Given the description of an element on the screen output the (x, y) to click on. 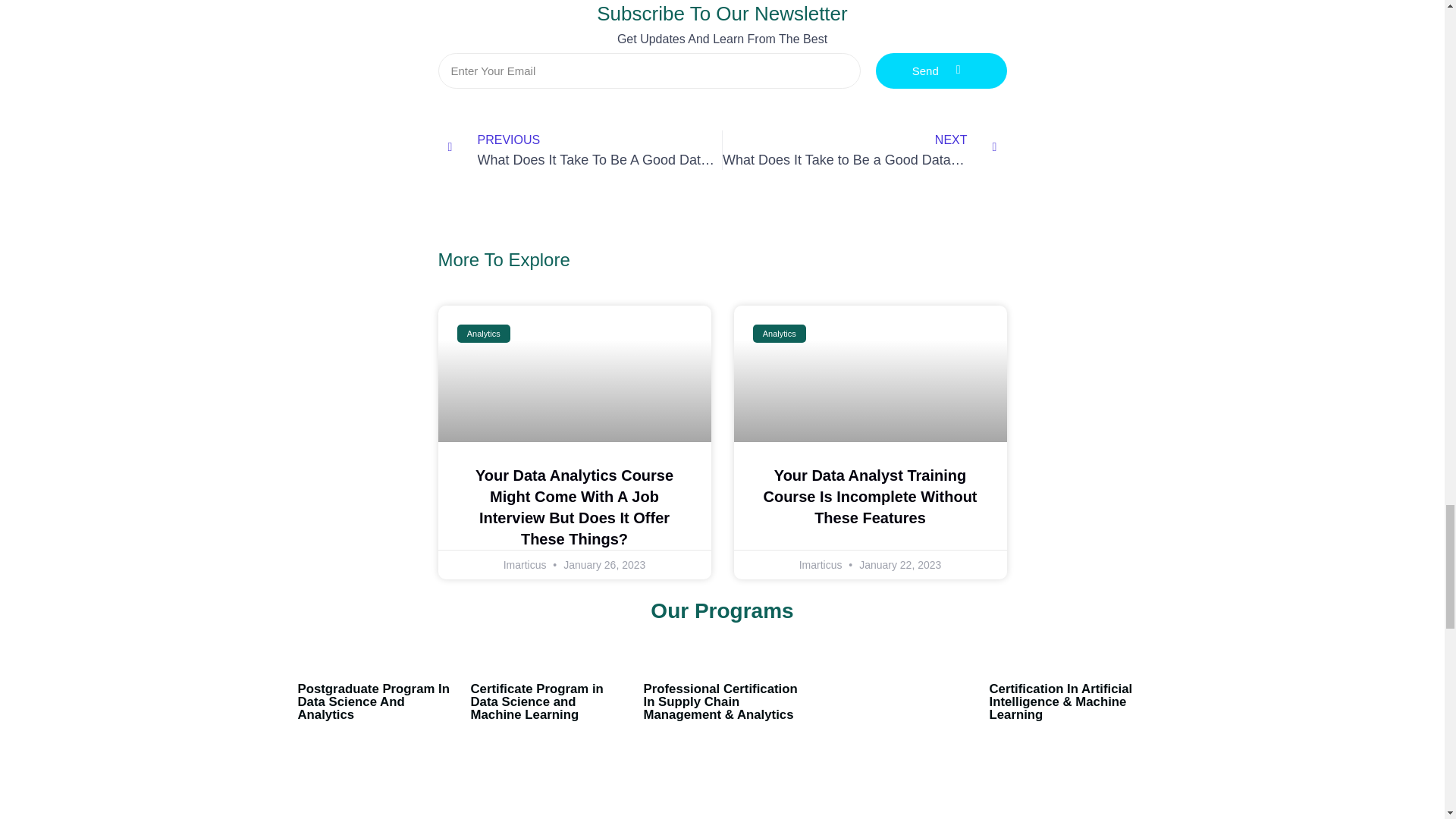
Send (941, 70)
Certificate Program in Data Science and Machine Learning (864, 149)
Postgraduate Program In Data Science And Analytics (536, 701)
